Given the description of an element on the screen output the (x, y) to click on. 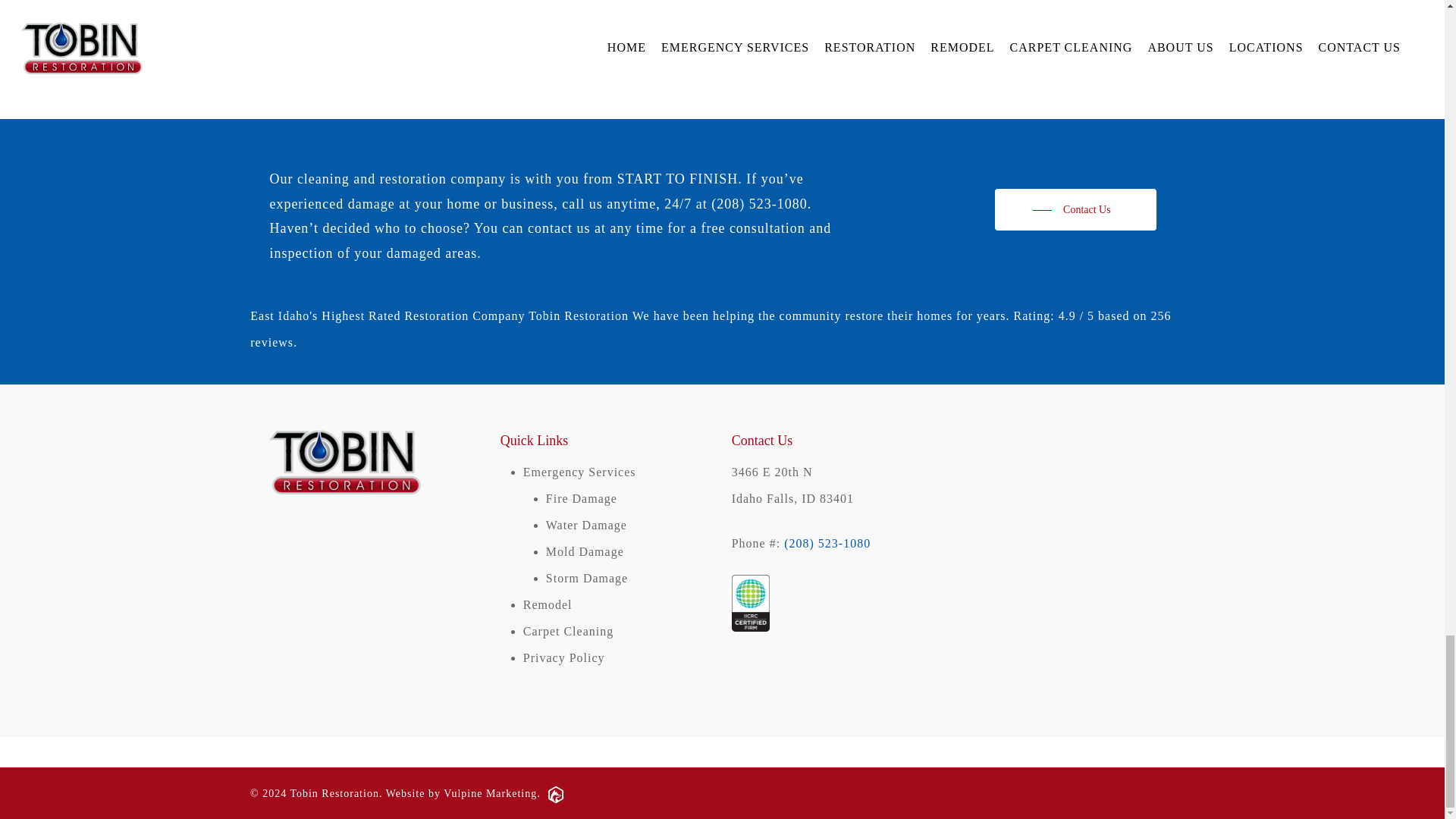
Carpet Cleaning (567, 631)
Remodel (547, 604)
Water Damage (586, 524)
Emergency Services (579, 472)
Privacy Policy (563, 657)
Contact Us (1075, 209)
Storm Damage (586, 577)
Fire Damage (581, 498)
Mold Damage (585, 551)
